Given the description of an element on the screen output the (x, y) to click on. 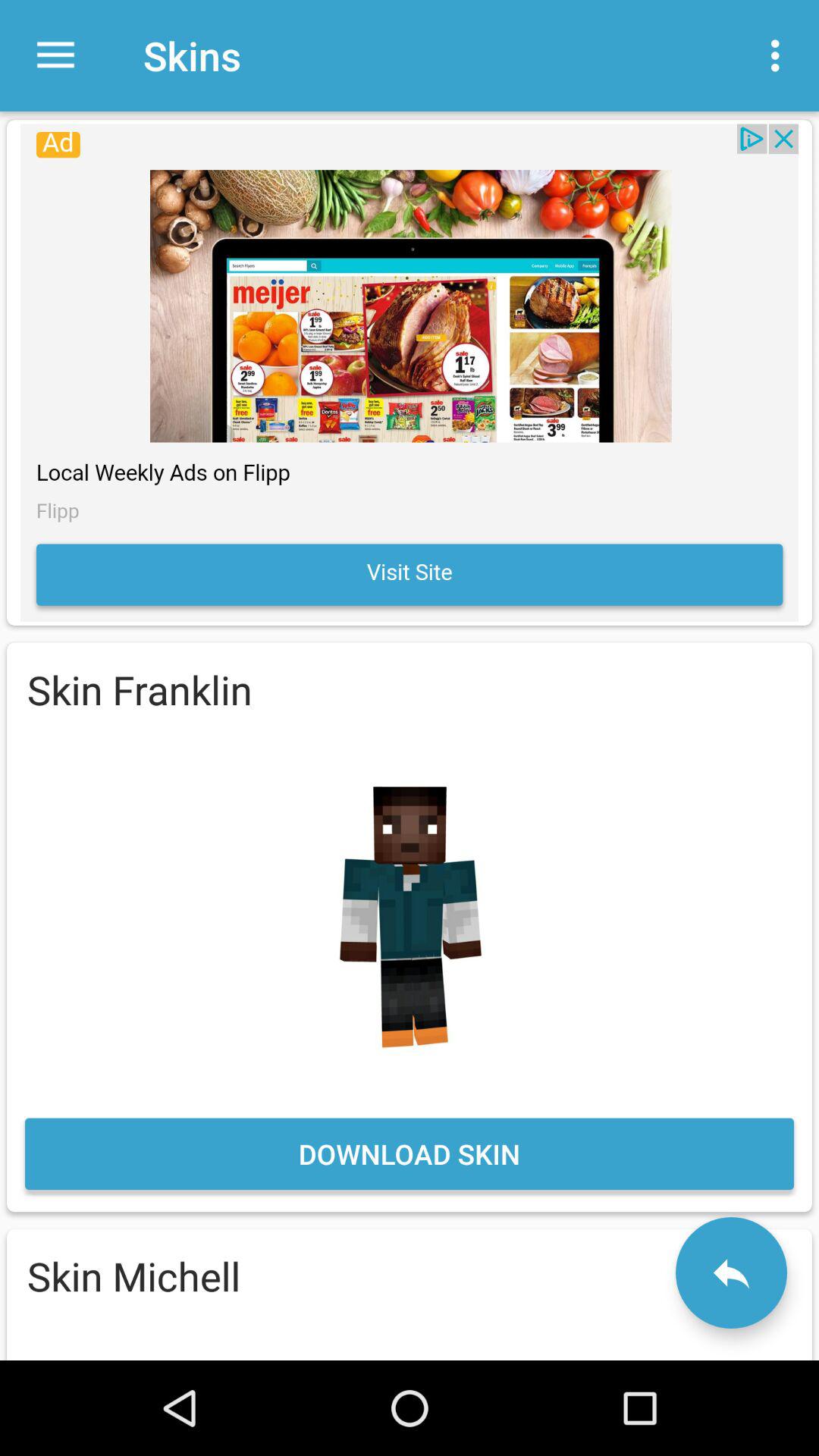
sent page (731, 1272)
